Given the description of an element on the screen output the (x, y) to click on. 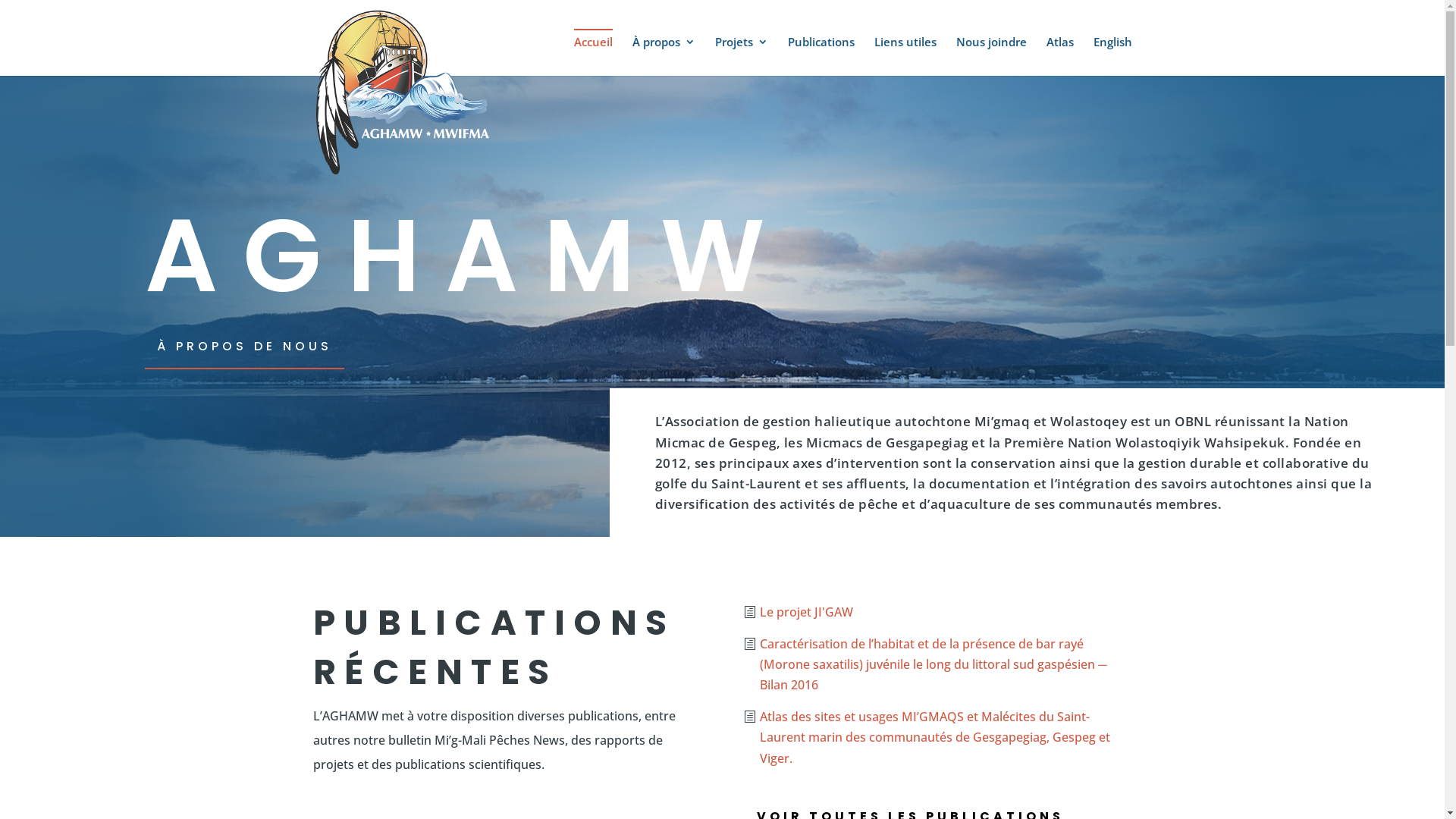
Liens utiles Element type: text (904, 55)
Projets Element type: text (740, 55)
Publications Element type: text (820, 55)
Atlas Element type: text (1059, 55)
Nous joindre Element type: text (990, 55)
Accueil Element type: text (592, 51)
English Element type: text (1112, 55)
Le projet JI'GAW Element type: text (802, 612)
